Given the description of an element on the screen output the (x, y) to click on. 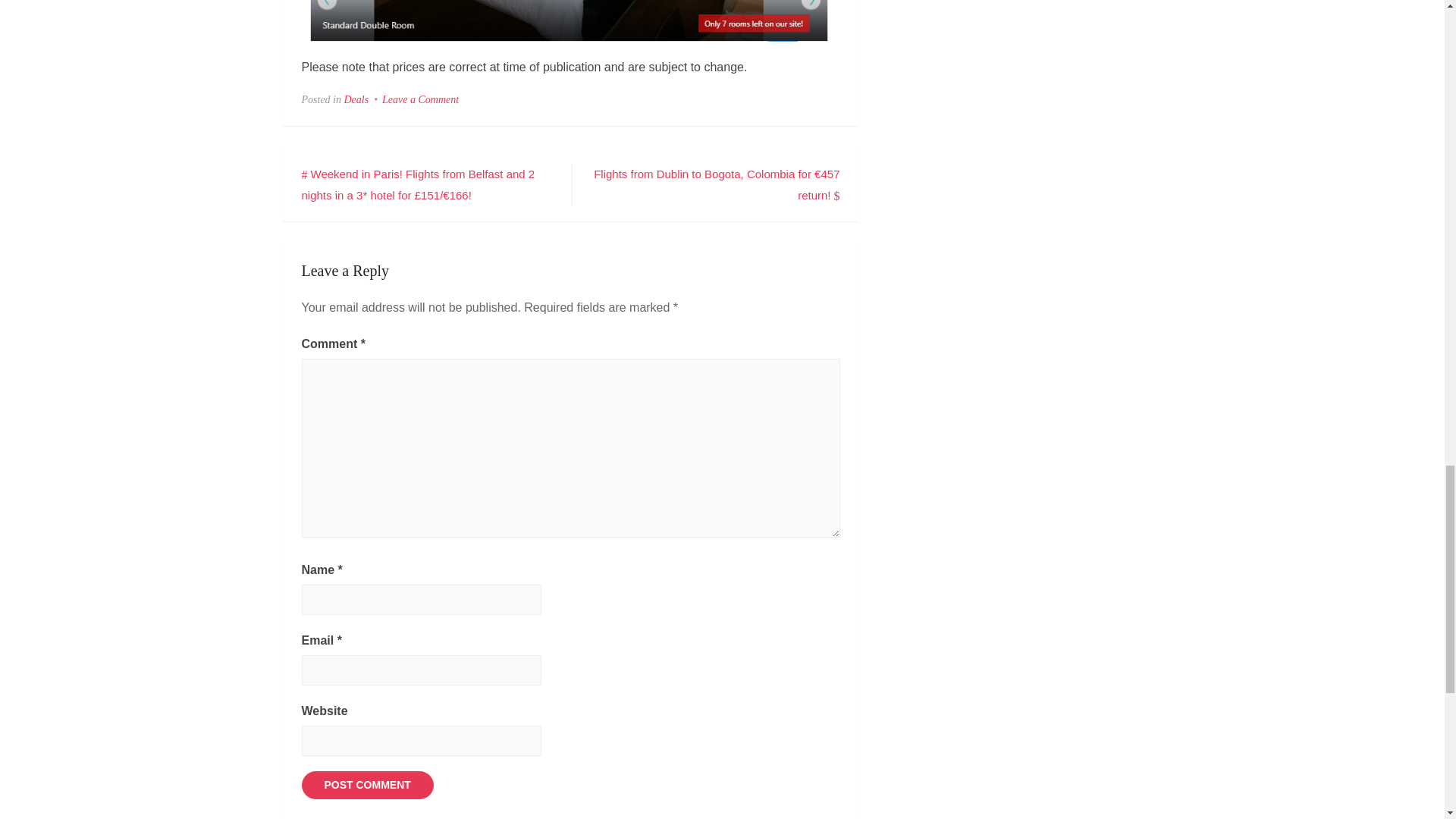
Deals (356, 99)
Post Comment (367, 785)
Post Comment (367, 785)
